Given the description of an element on the screen output the (x, y) to click on. 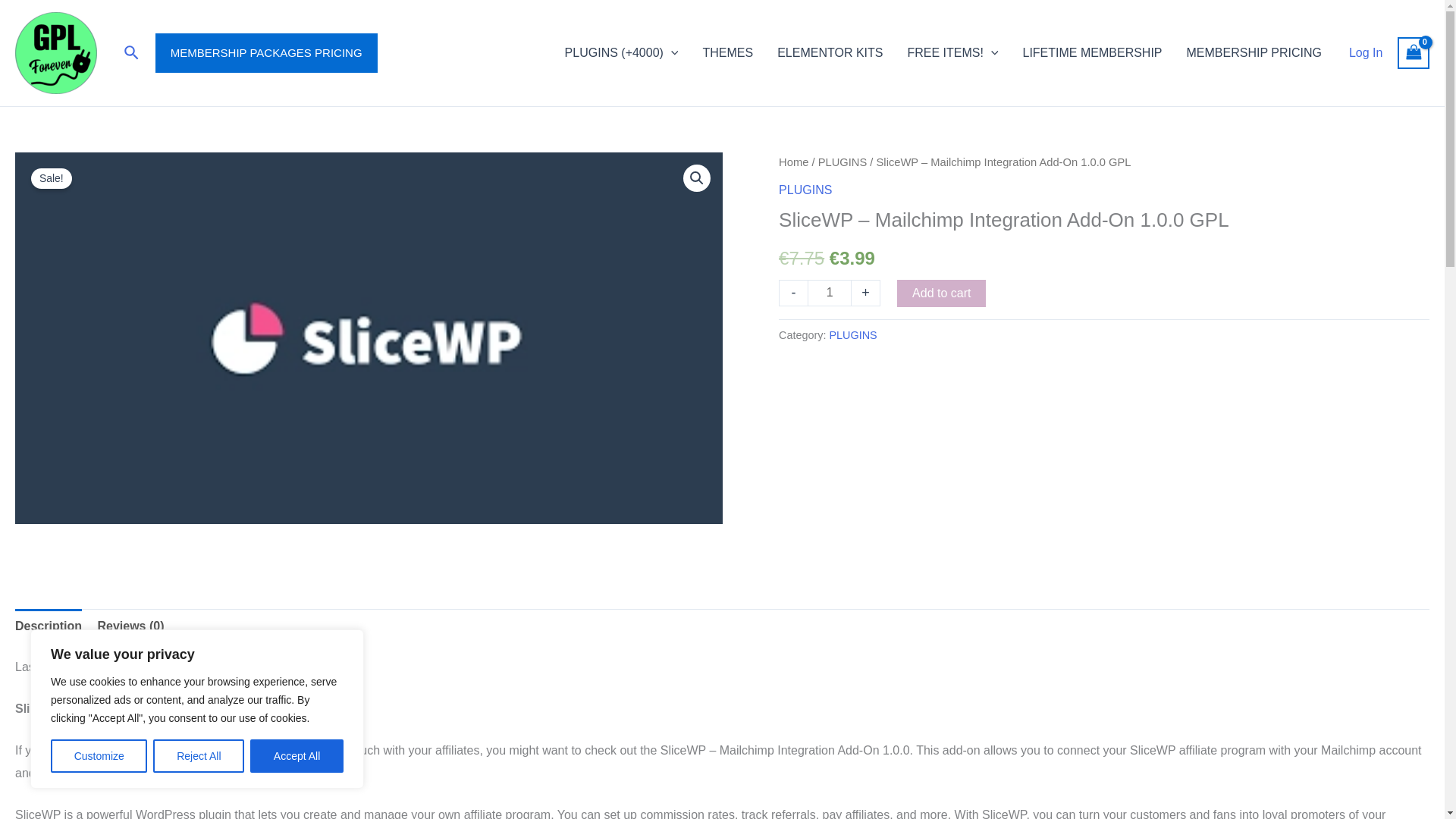
Reject All (198, 756)
1 (829, 293)
LIFETIME MEMBERSHIP (1091, 52)
THEMES (727, 52)
MEMBERSHIP PRICING (1253, 52)
MEMBERSHIP PACKAGES PRICING (266, 52)
Customize (98, 756)
Accept All (296, 756)
ELEMENTOR KITS (830, 52)
FREE ITEMS! (952, 52)
